Given the description of an element on the screen output the (x, y) to click on. 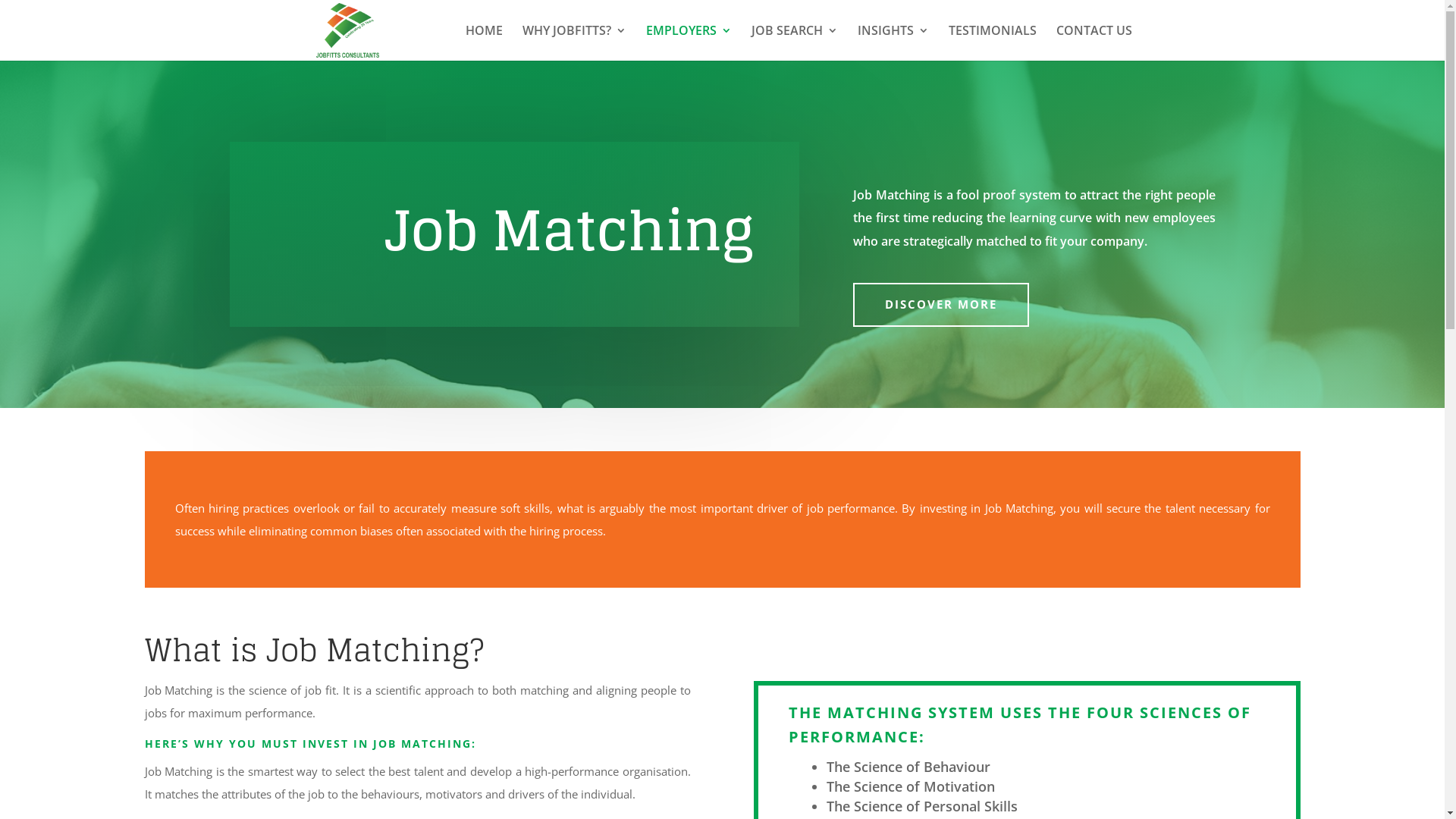
JOB SEARCH Element type: text (793, 42)
HOME Element type: text (483, 42)
CONTACT US Element type: text (1093, 42)
WHY JOBFITTS? Element type: text (573, 42)
EMPLOYERS Element type: text (688, 42)
TESTIMONIALS Element type: text (991, 42)
INSIGHTS Element type: text (892, 42)
DISCOVER MORE Element type: text (941, 304)
